Given the description of an element on the screen output the (x, y) to click on. 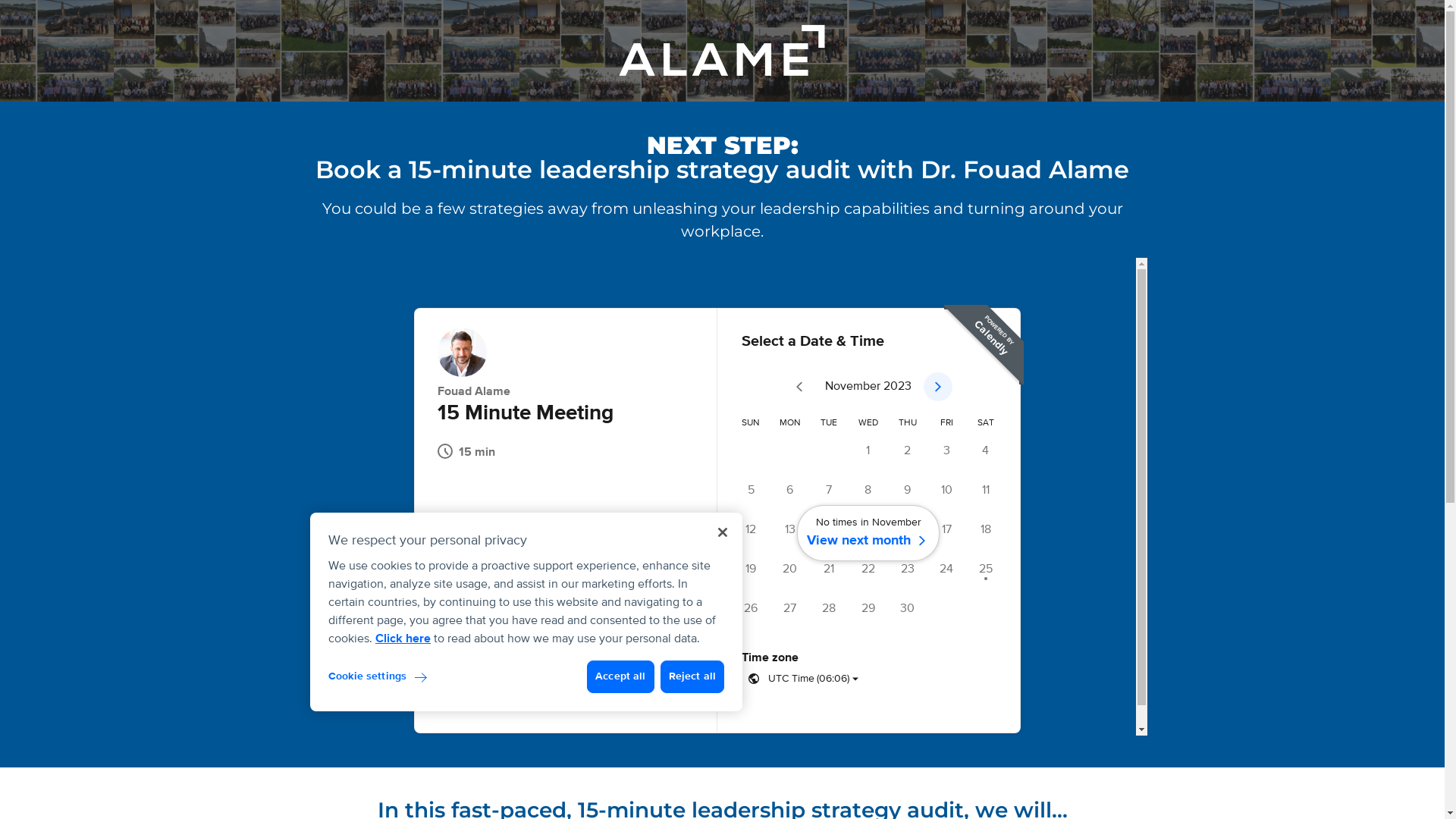
Select a Date & Time - Calendly Element type: hover (721, 496)
